Given the description of an element on the screen output the (x, y) to click on. 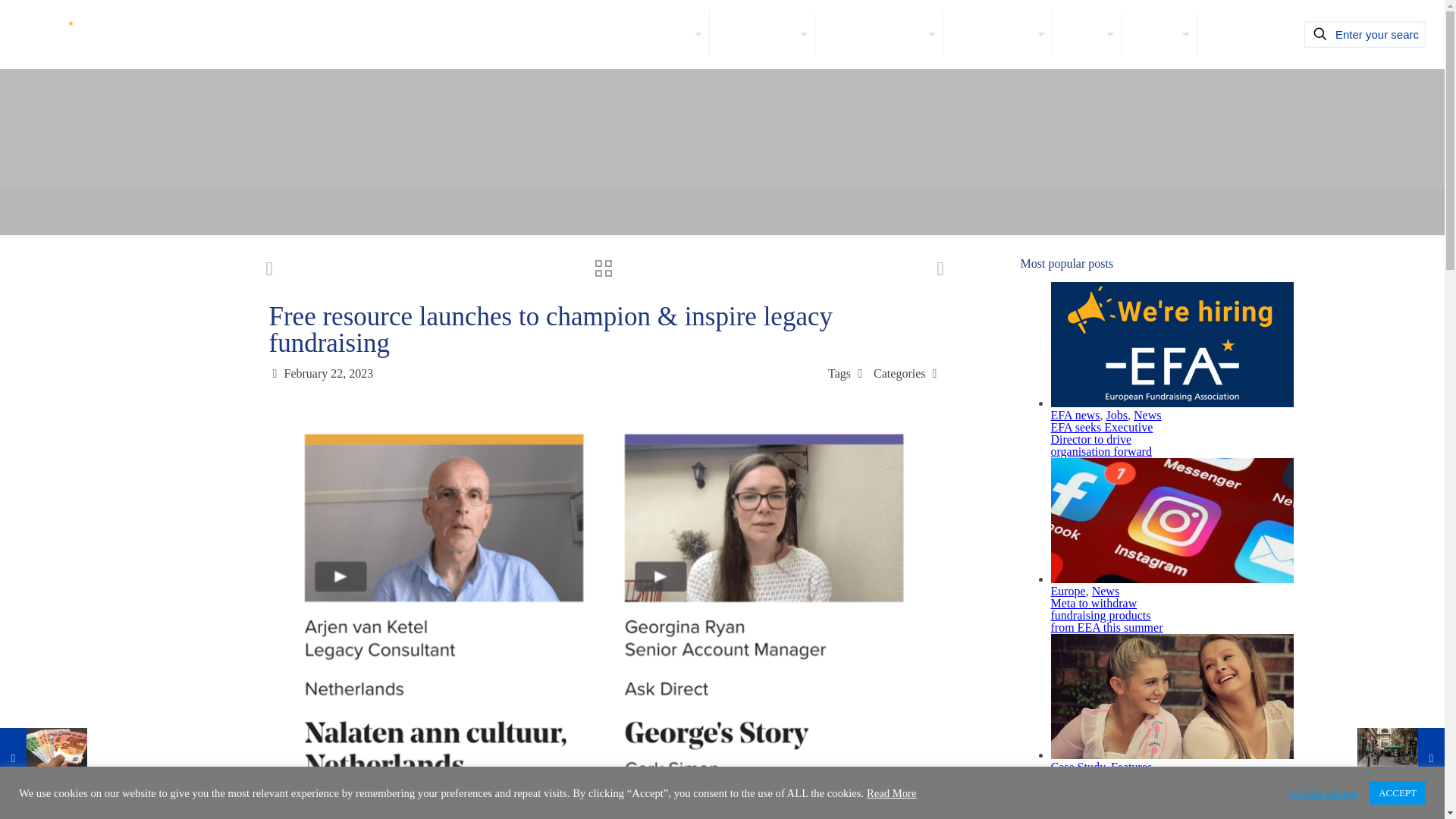
LinkedIn (1142, 779)
Public Affairs (997, 33)
About us (666, 33)
Events (1158, 33)
News (1086, 33)
Facebook (1110, 779)
EFA Certification (879, 33)
Membership (762, 33)
